Given the description of an element on the screen output the (x, y) to click on. 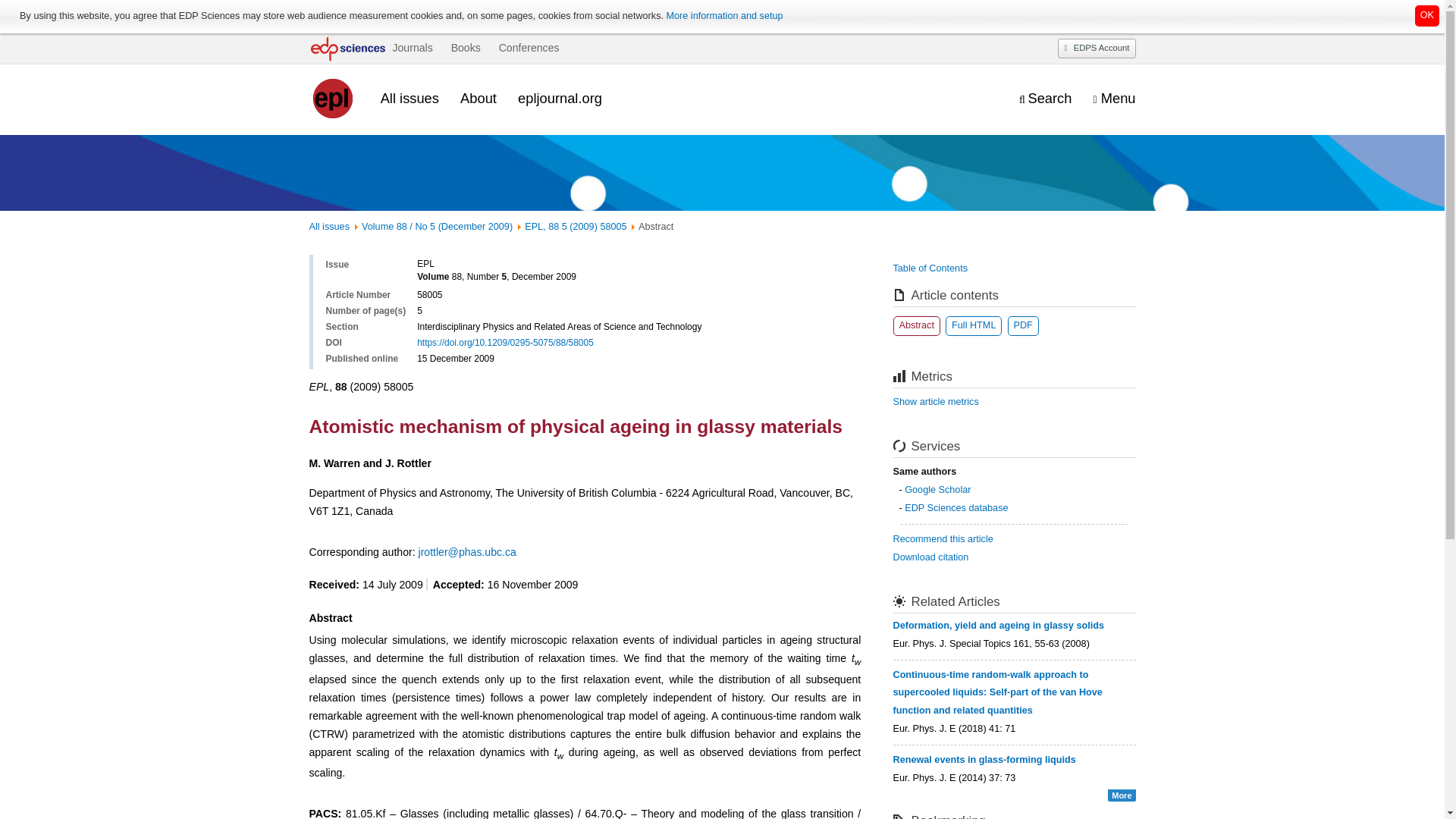
Abstract (916, 325)
Full HTML (972, 325)
Books (465, 47)
Journals (411, 47)
epljournal.org (560, 98)
OK (1427, 15)
PDF (1022, 325)
Conferences (529, 47)
All issues (409, 98)
Click to close this notification (1427, 15)
